Given the description of an element on the screen output the (x, y) to click on. 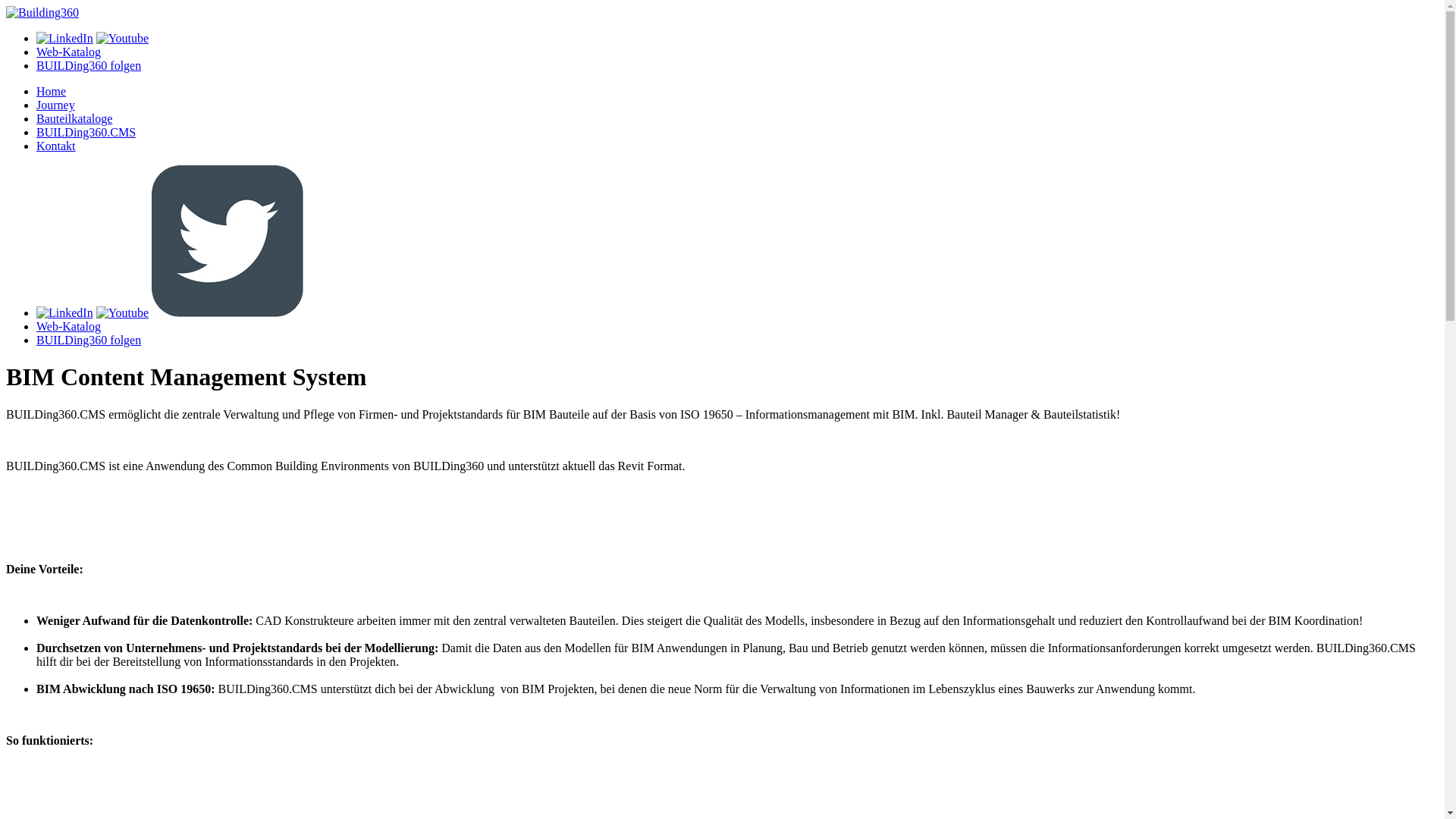
Web-Katalog Element type: text (68, 51)
BUILDing360 folgen Element type: text (88, 339)
BUILDing360 folgen Element type: text (88, 65)
Kontakt Element type: text (55, 145)
Journey Element type: text (55, 104)
Bauteilkataloge Element type: text (74, 118)
Home Element type: text (50, 90)
BUILDing360.CMS Element type: text (85, 131)
Web-Katalog Element type: text (68, 326)
